Given the description of an element on the screen output the (x, y) to click on. 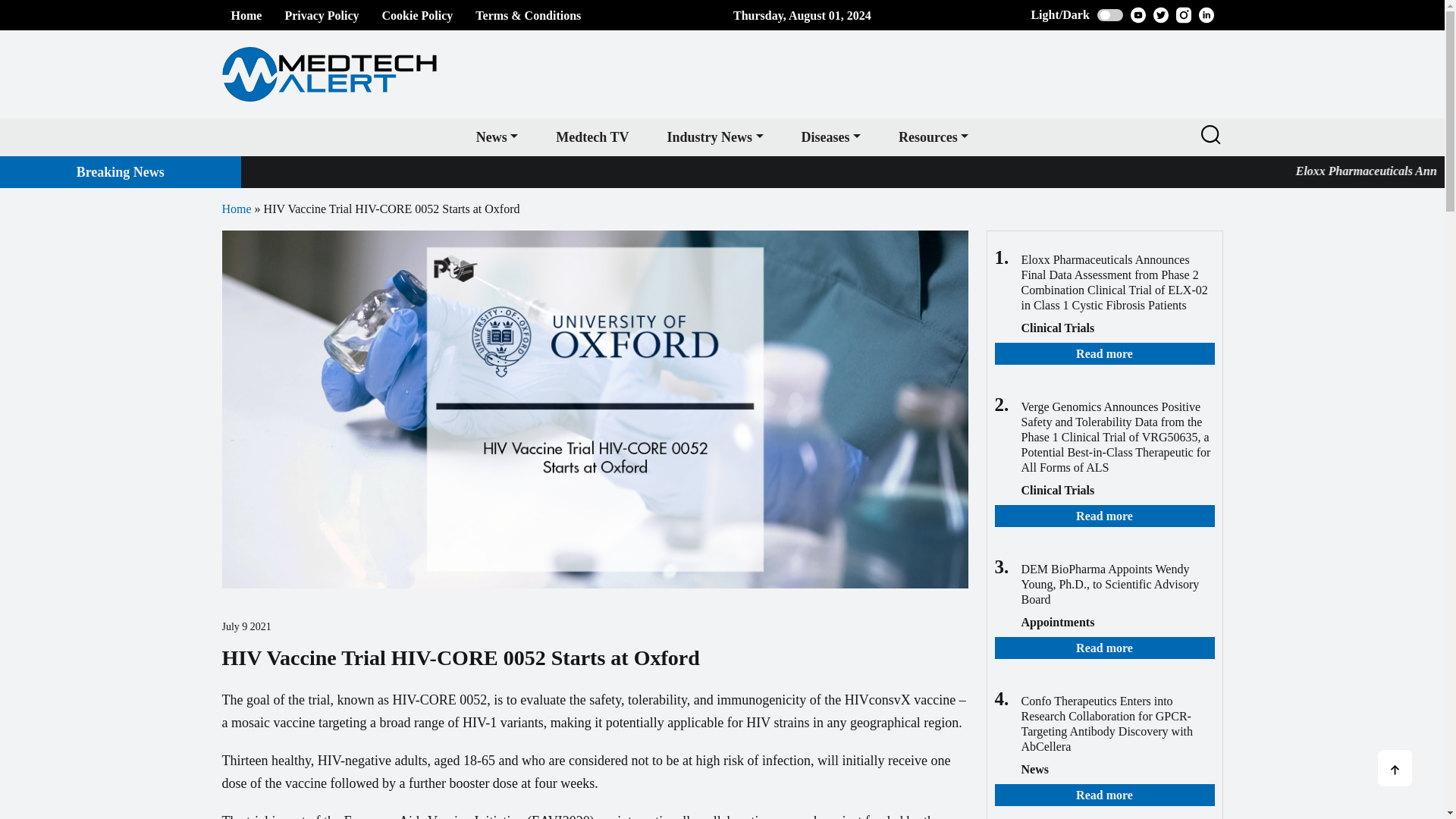
Diseases (831, 136)
News (497, 136)
Industry News (714, 136)
Privacy Policy (320, 15)
Medtech TV (592, 136)
Home (246, 15)
Cookie Policy (416, 15)
Resources (933, 136)
